Given the description of an element on the screen output the (x, y) to click on. 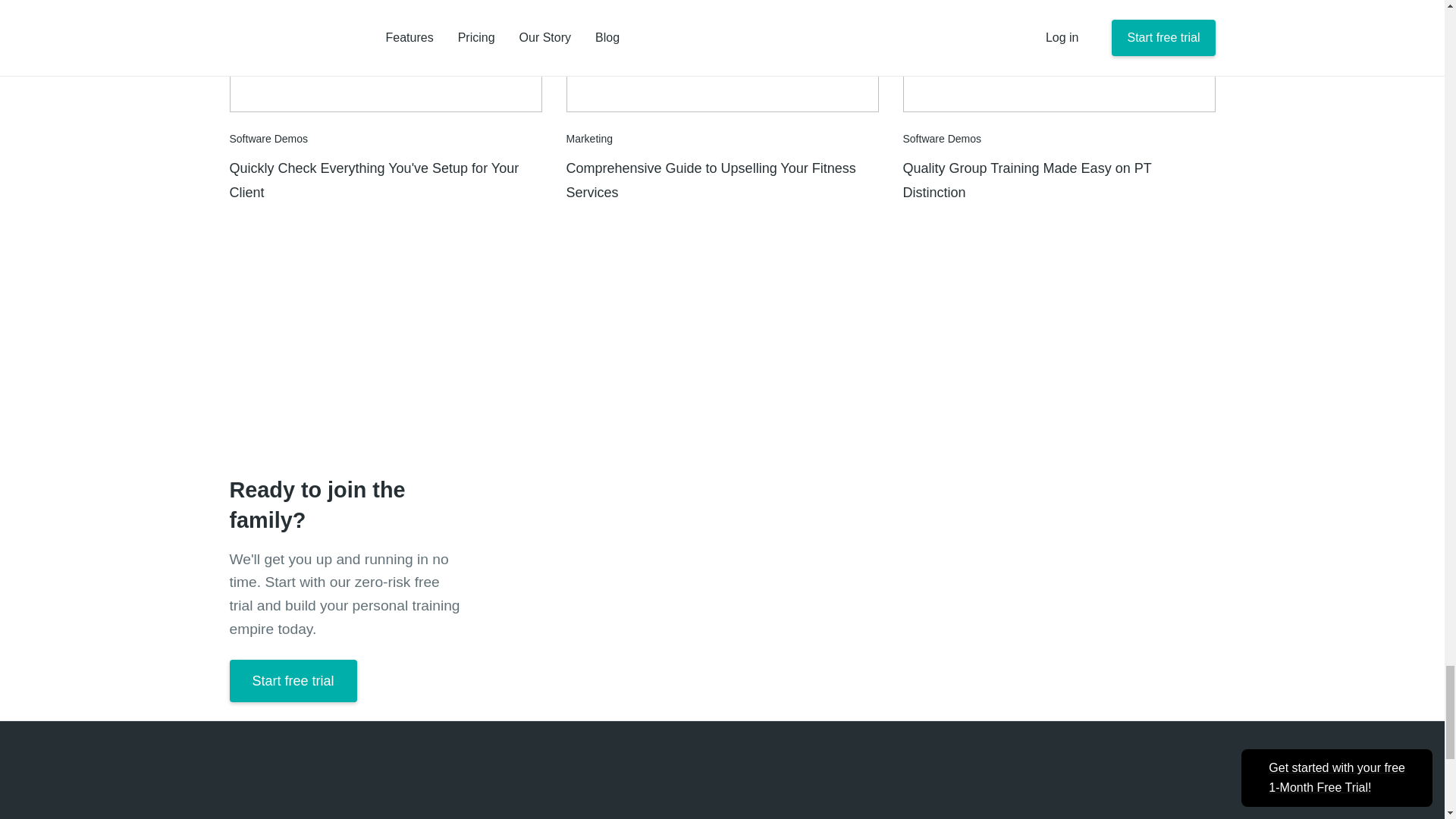
Start free trial (292, 680)
